Given the description of an element on the screen output the (x, y) to click on. 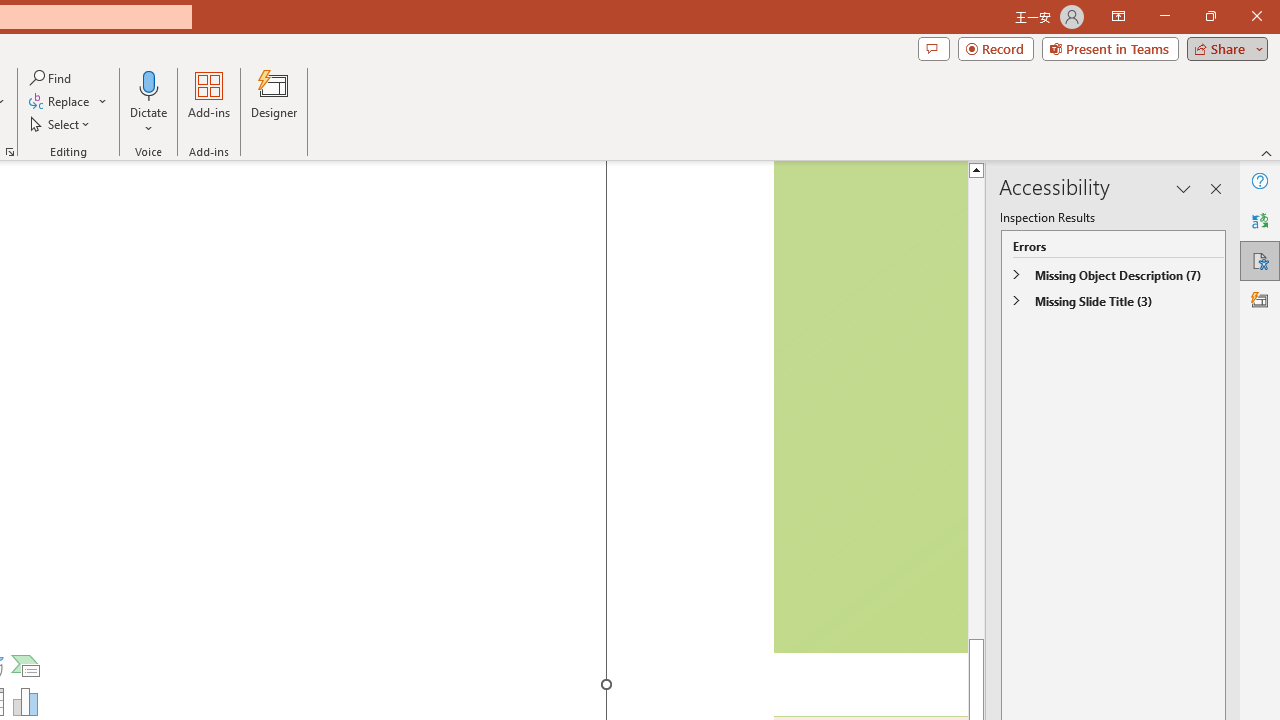
Dictate (149, 84)
Line up (976, 169)
Task Pane Options (1183, 188)
Format Object... (9, 151)
Select (61, 124)
Insert a SmartArt Graphic (26, 665)
Accessibility (1260, 260)
Designer (1260, 300)
Dictate (149, 102)
